Given the description of an element on the screen output the (x, y) to click on. 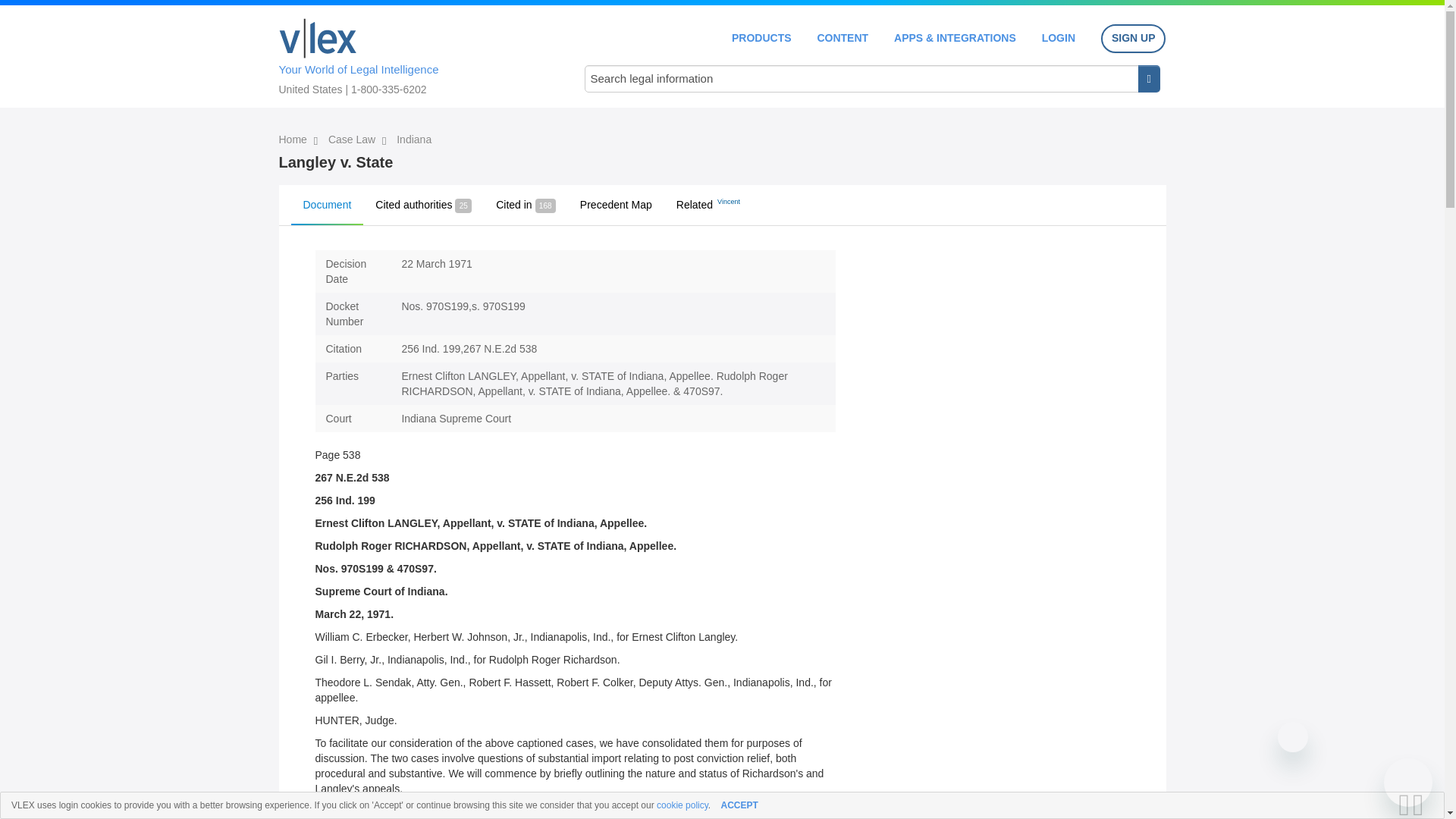
Home (317, 38)
Case Law (353, 139)
CONTENT (841, 37)
Your World of Legal Intelligence (416, 53)
Home (294, 139)
SIGN UP (1133, 38)
PRODUCTS (762, 37)
Indiana (413, 139)
LOGIN (1058, 37)
